Given the description of an element on the screen output the (x, y) to click on. 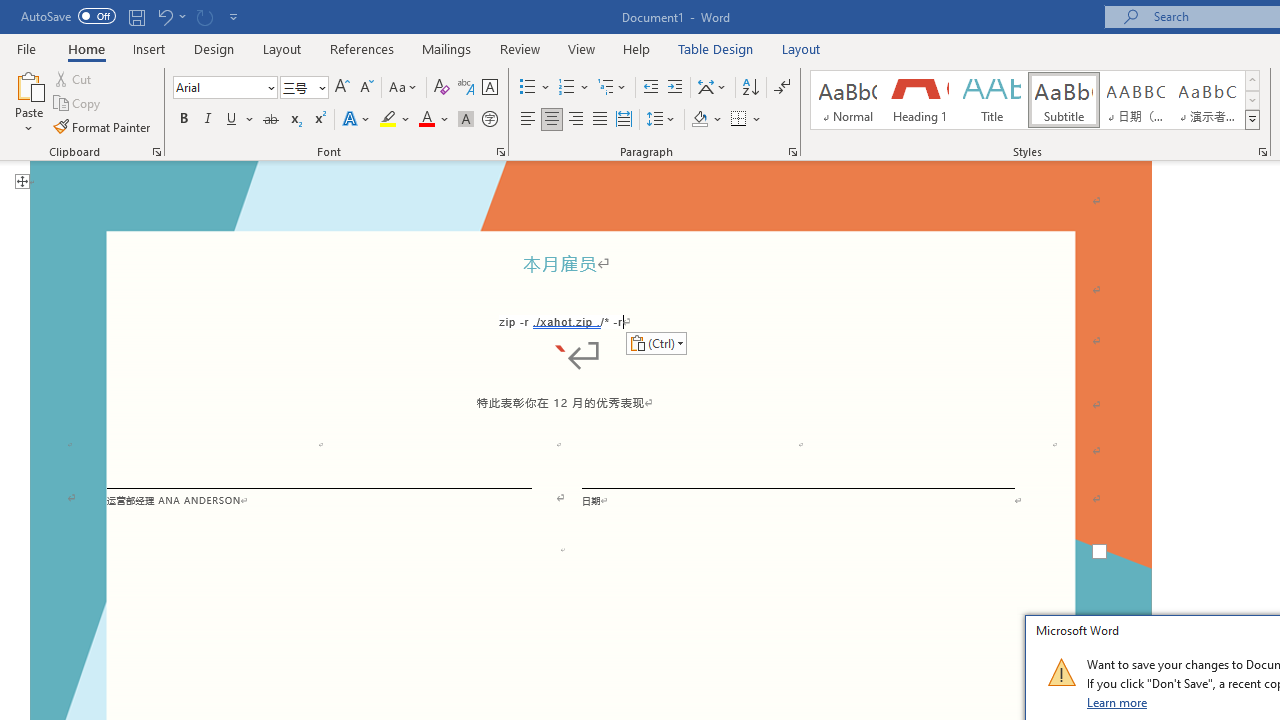
Subtitle (1063, 100)
Undo Paste (170, 15)
Undo Paste (164, 15)
